Given the description of an element on the screen output the (x, y) to click on. 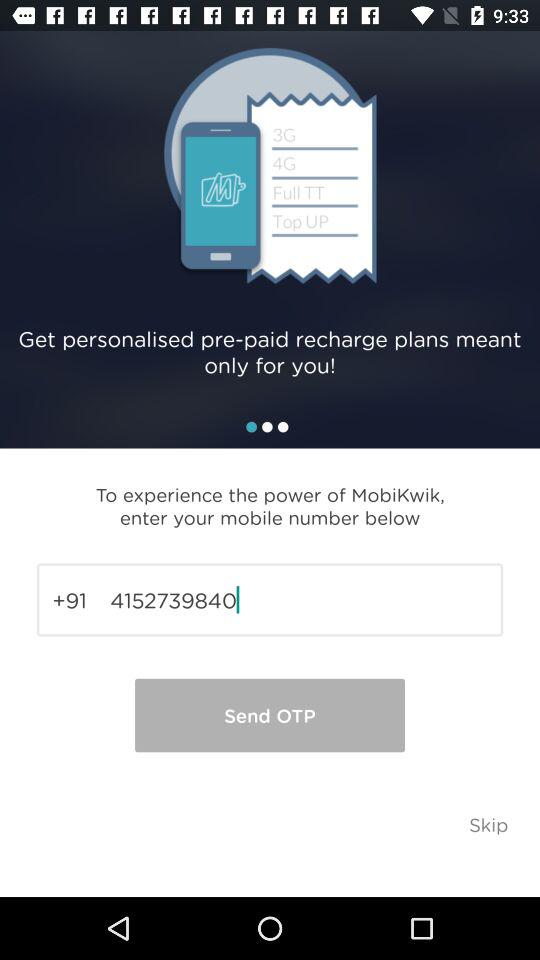
scroll to send otp (270, 715)
